Given the description of an element on the screen output the (x, y) to click on. 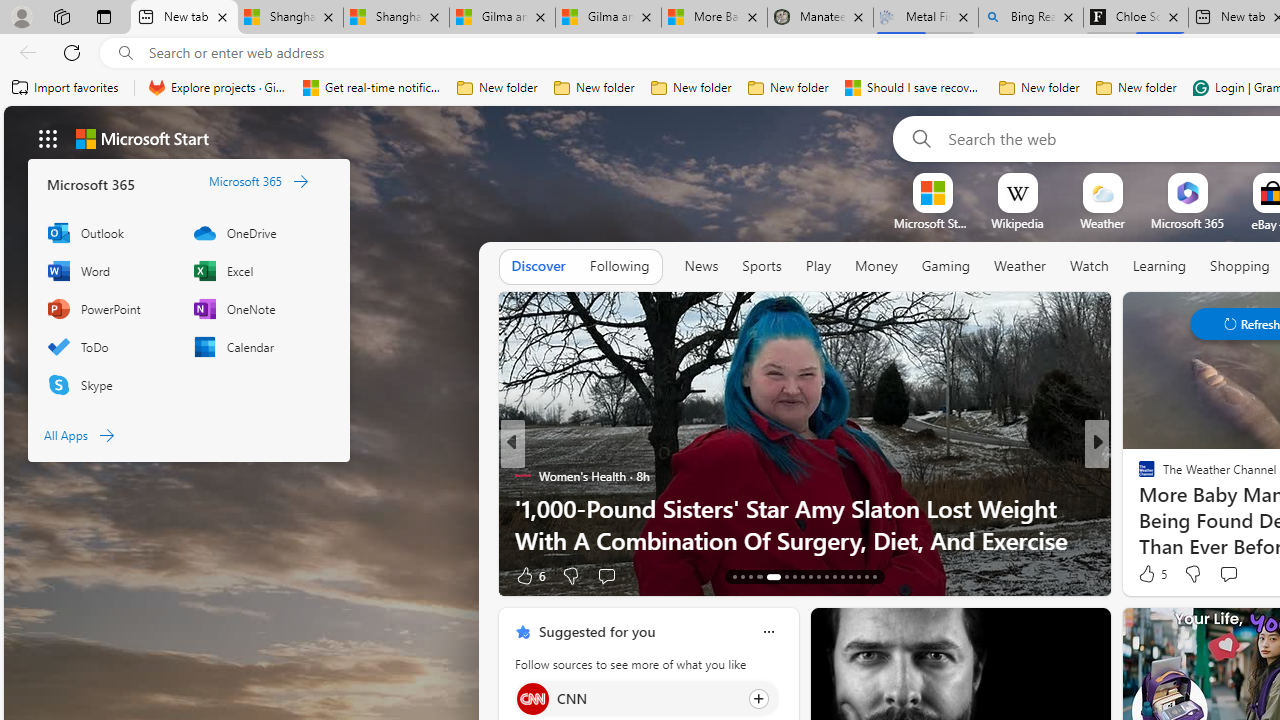
OneNote (255, 309)
View comments 7 Comment (1229, 575)
View comments 25 Comment (1229, 575)
New folder (1136, 88)
Word (110, 270)
Women's Health (522, 475)
16 Like (1149, 574)
View comments 2 Comment (1229, 575)
